Given the description of an element on the screen output the (x, y) to click on. 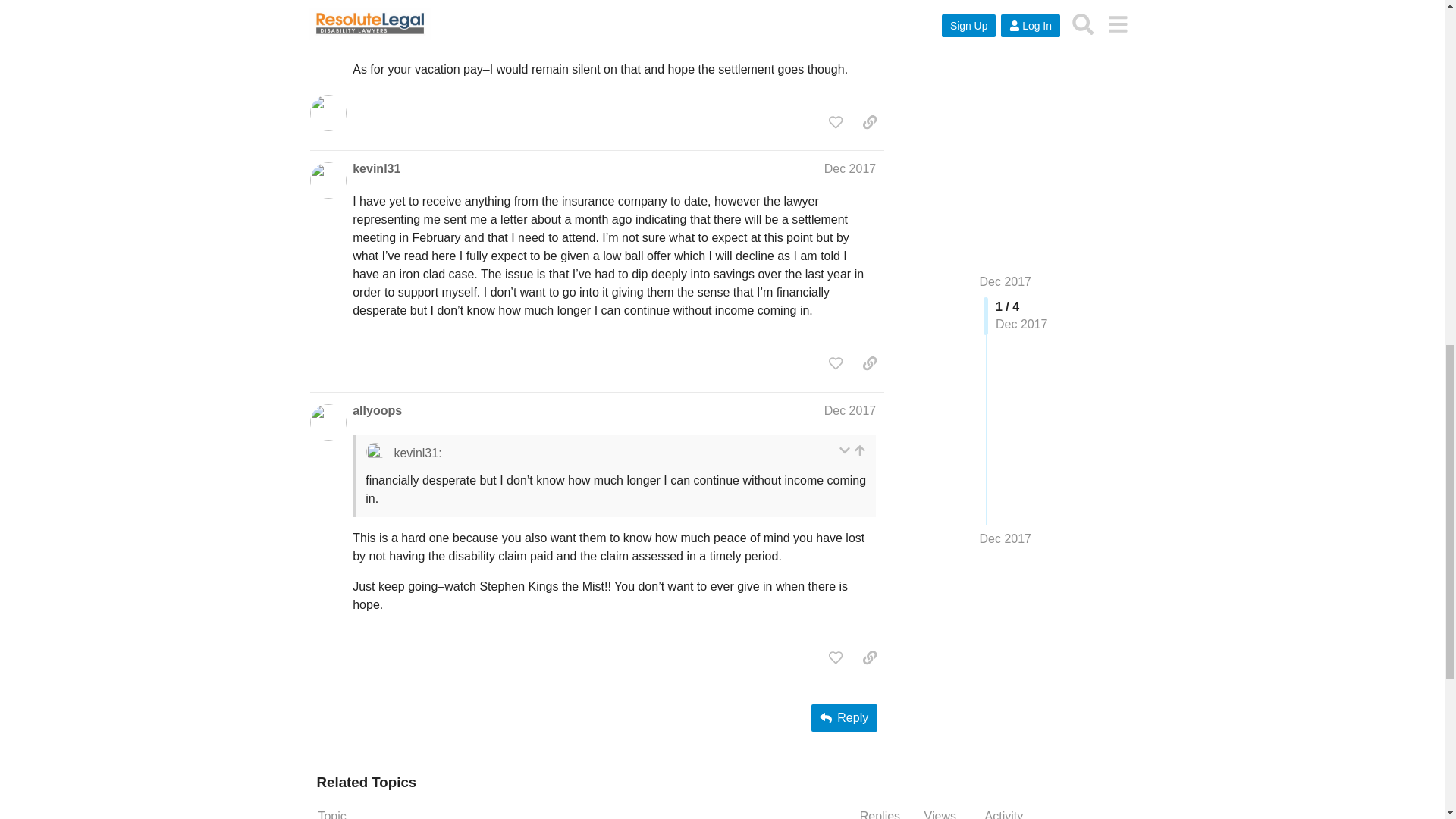
Dec 2017 (850, 168)
allyoops (376, 410)
Dec 2017 (850, 410)
kevinl31 (376, 168)
Please sign up or log in to like this post (835, 121)
